Given the description of an element on the screen output the (x, y) to click on. 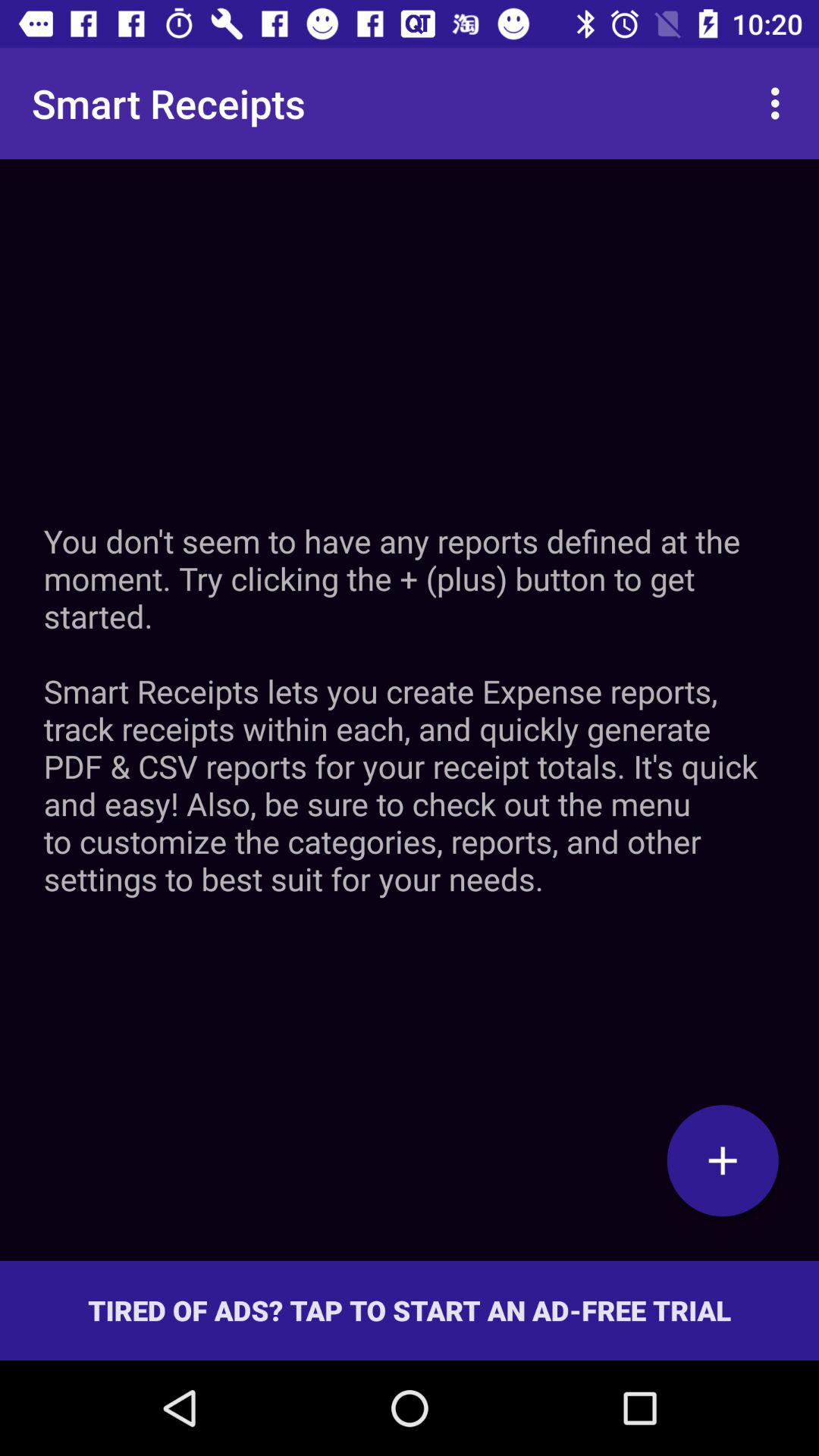
click the item above the tired of ads item (409, 709)
